Given the description of an element on the screen output the (x, y) to click on. 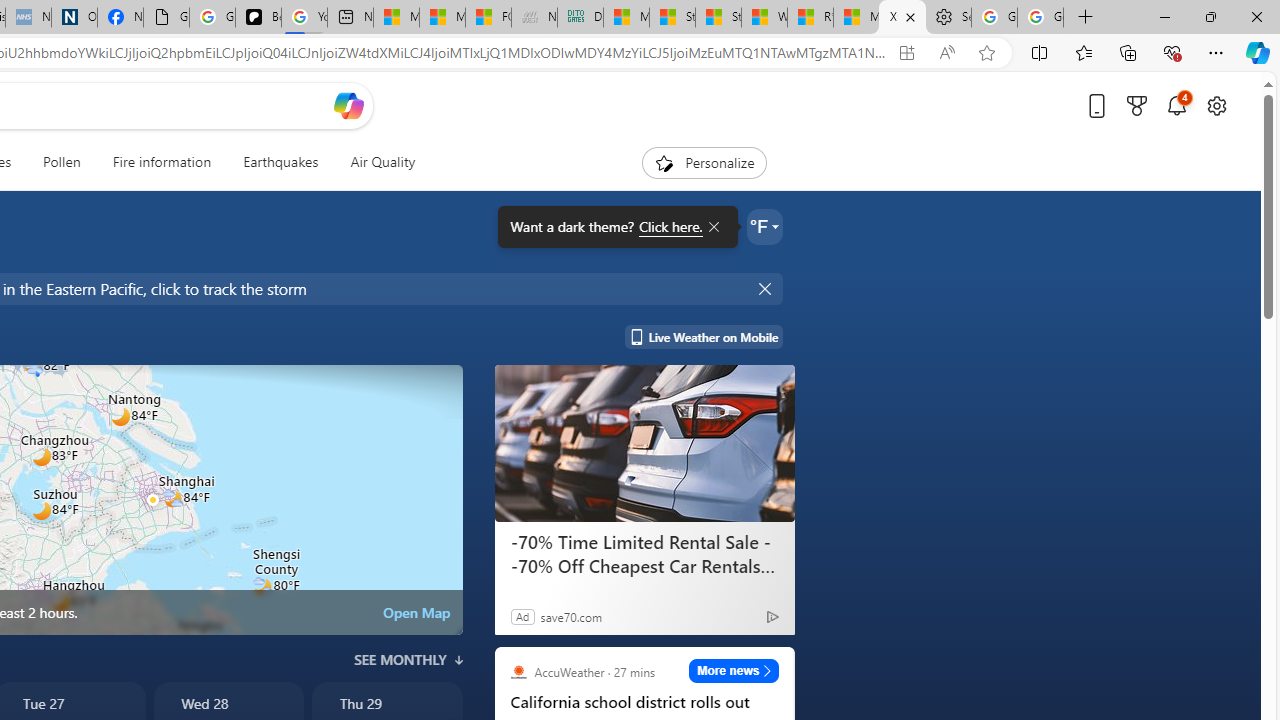
See Monthly (408, 660)
FOX News - MSN (487, 17)
Air Quality (382, 162)
Pollen (61, 162)
More news (733, 670)
